Given the description of an element on the screen output the (x, y) to click on. 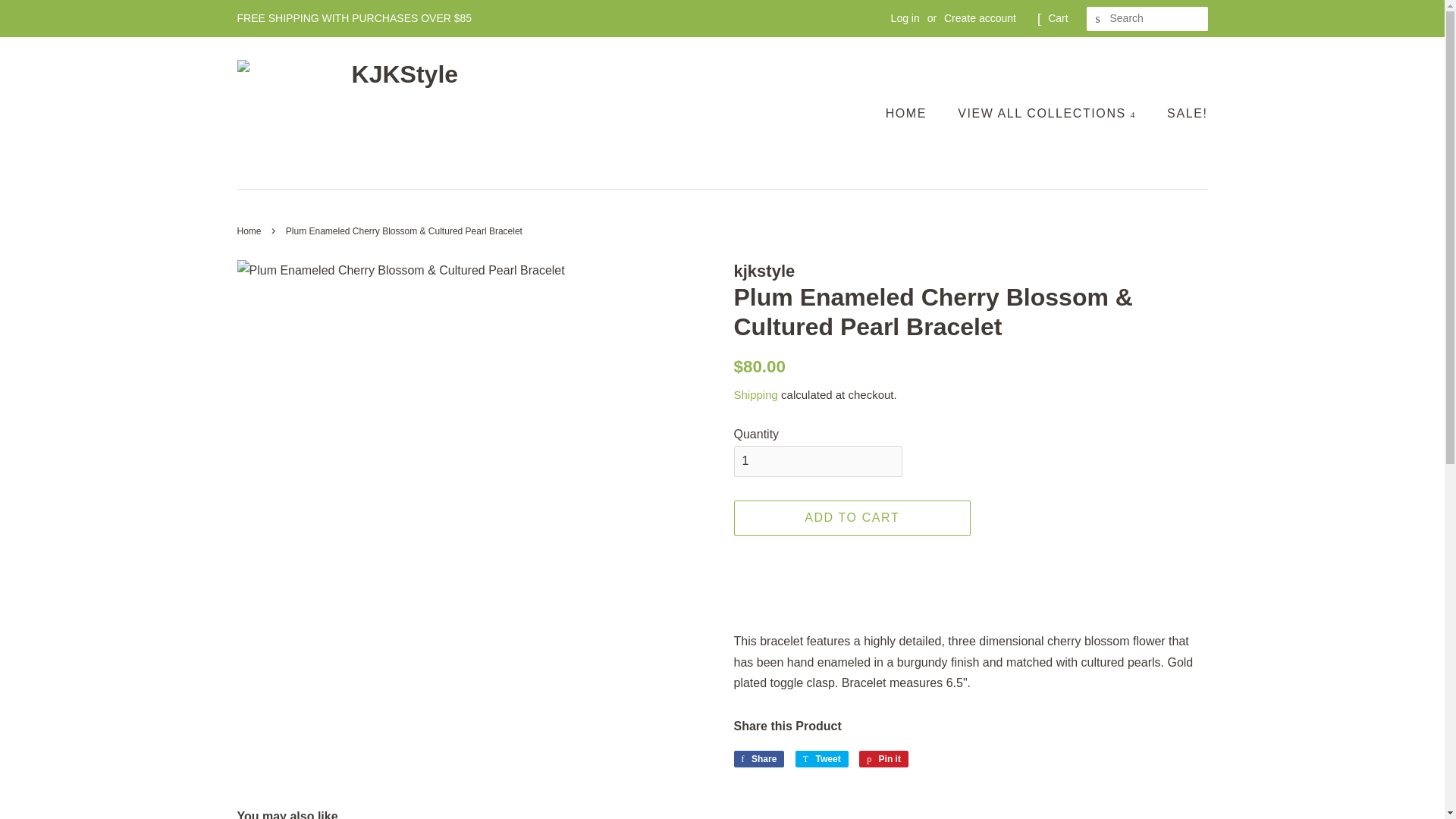
Log in (905, 18)
VIEW ALL COLLECTIONS (1048, 112)
Create account (979, 18)
Tweet on Twitter (821, 759)
Shipping (755, 394)
HOME (913, 112)
SALE! (1181, 112)
1 (817, 460)
Pin on Pinterest (883, 759)
ADD TO CART (852, 518)
Back to the frontpage (249, 231)
Home (249, 231)
Share on Facebook (758, 759)
Cart (1057, 18)
SEARCH (1097, 18)
